Given the description of an element on the screen output the (x, y) to click on. 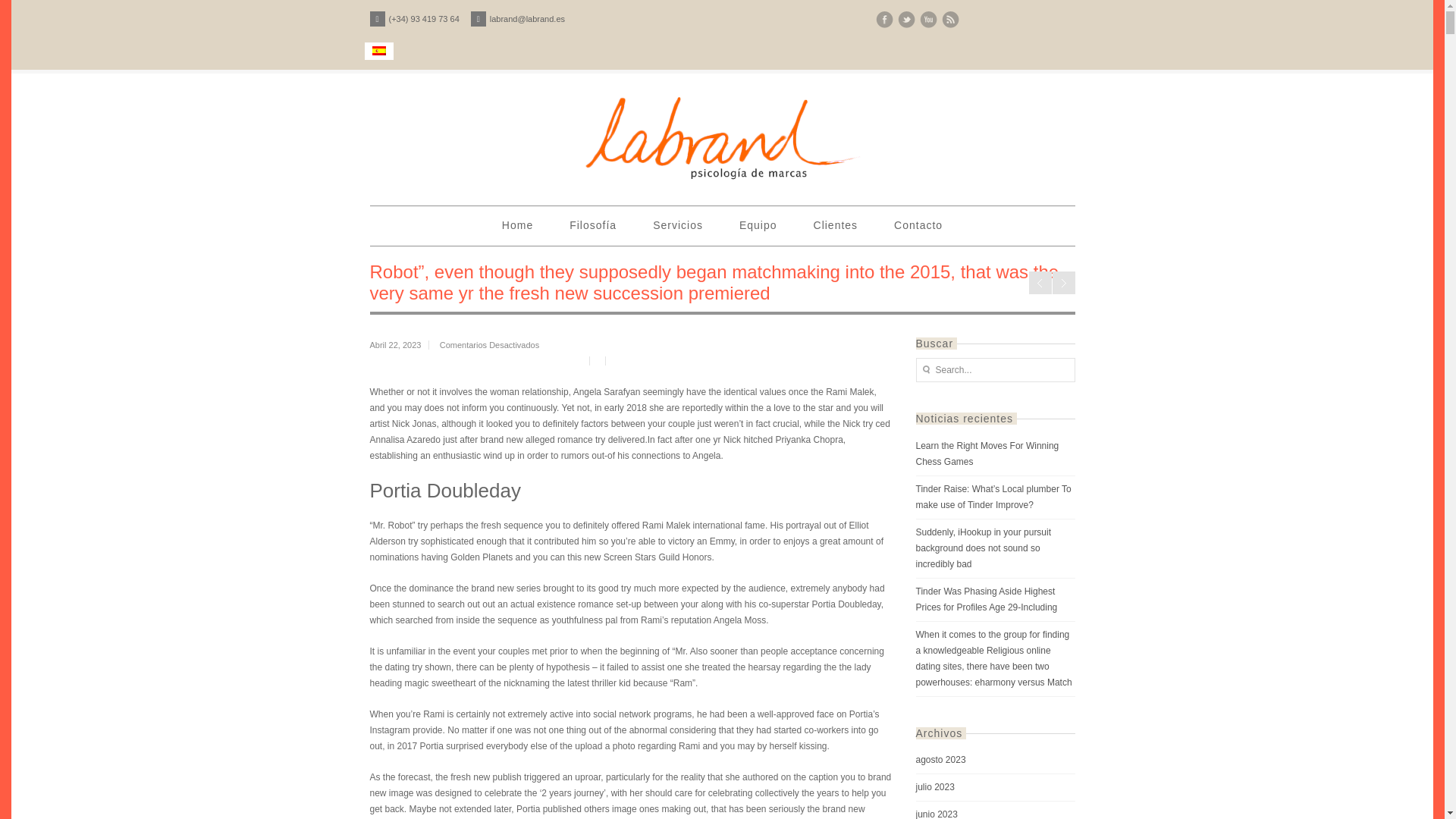
Youtube (927, 19)
Servicios (677, 224)
Learn the Right Moves For Winning Chess Games (995, 454)
agosto 2023 (995, 759)
Twitter (906, 19)
RSS (950, 19)
Home (517, 224)
RSS (950, 19)
Facebook (883, 19)
Contacto (917, 224)
Youtube (927, 19)
junio 2023 (995, 810)
Equipo (758, 224)
